Given the description of an element on the screen output the (x, y) to click on. 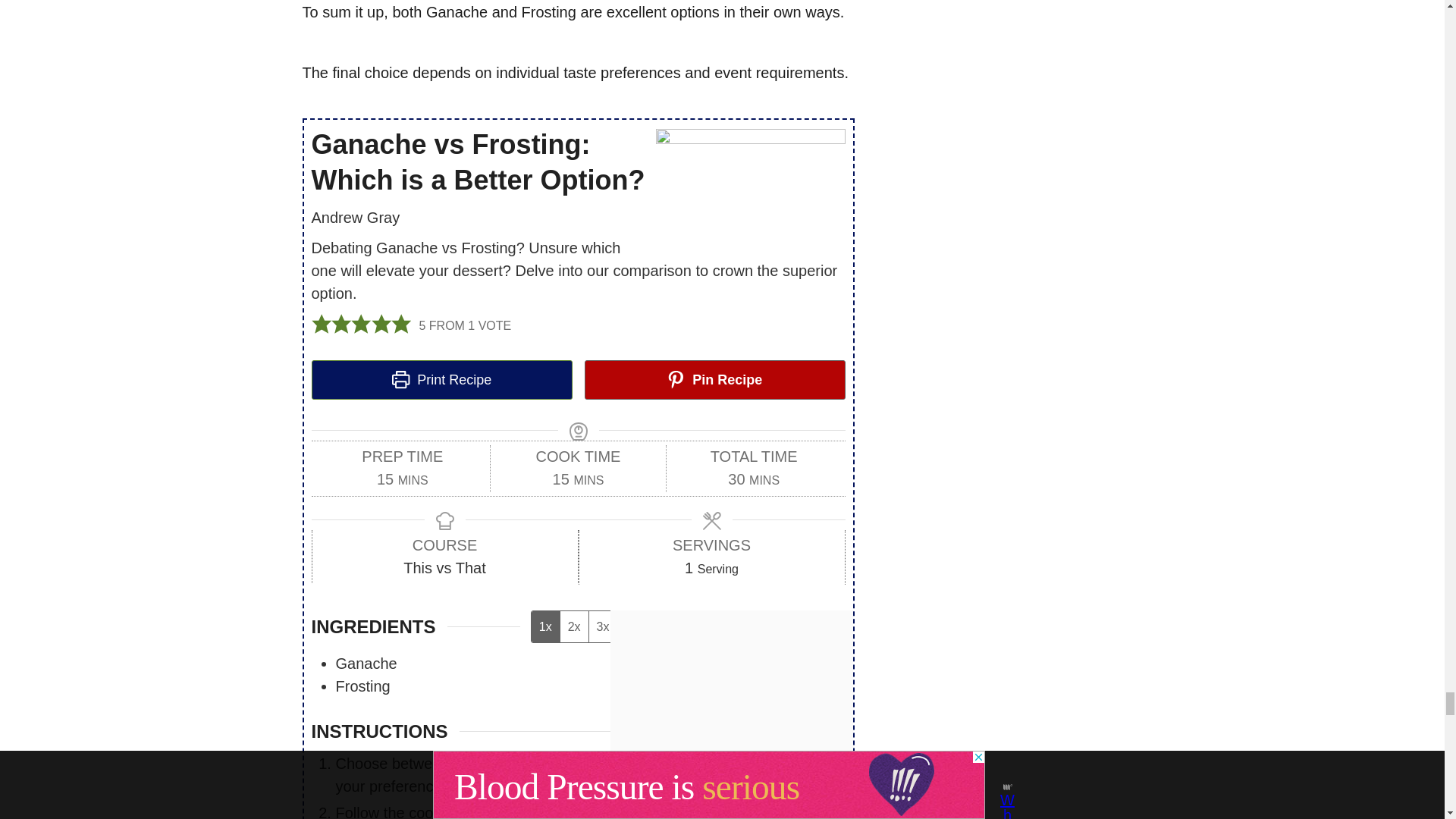
1x (545, 626)
Pin Recipe (713, 379)
2x (573, 626)
3x (602, 626)
Print Recipe (441, 379)
